Given the description of an element on the screen output the (x, y) to click on. 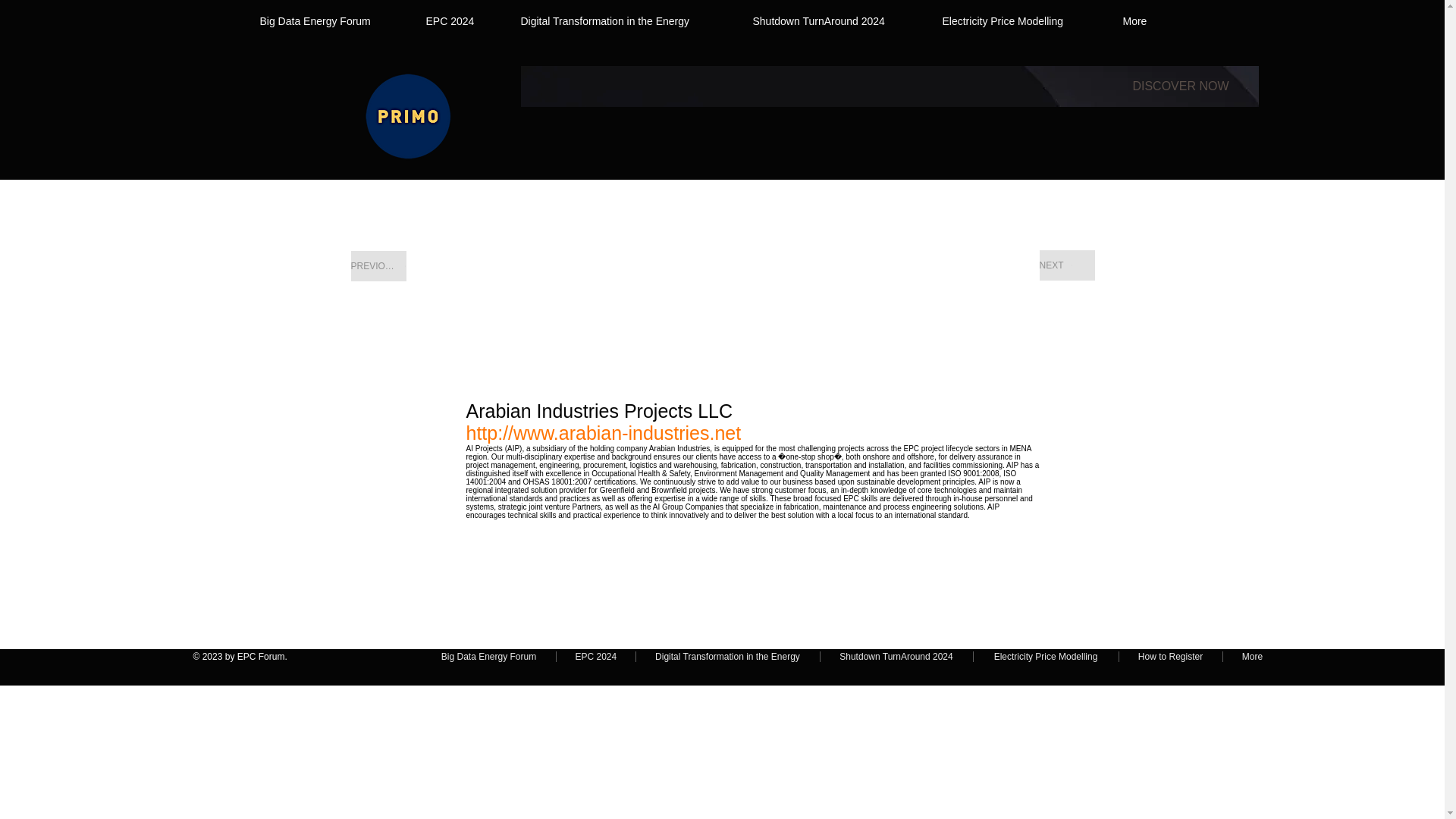
Shutdown TurnAround 2024 (828, 21)
Big Data Energy Forum (488, 656)
How to Register (1171, 656)
DISCOVER NOW (1180, 86)
Digital Transformation in the Energy (617, 21)
Electricity Price Modelling (1013, 21)
EPC 2024 (595, 656)
Shutdown TurnAround 2024 (896, 656)
Digital Transformation in the Energy (726, 656)
PREVIOUS (378, 265)
Big Data Energy Forum (324, 21)
EPC 2024 (453, 21)
NEXT (1066, 265)
Electricity Price Modelling (1046, 656)
